Given the description of an element on the screen output the (x, y) to click on. 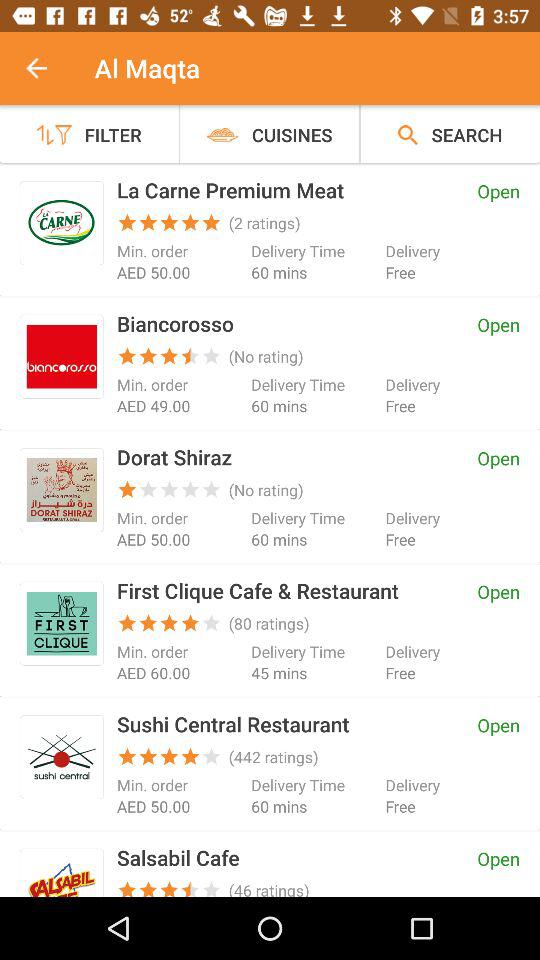
see restaurant details (61, 876)
